Given the description of an element on the screen output the (x, y) to click on. 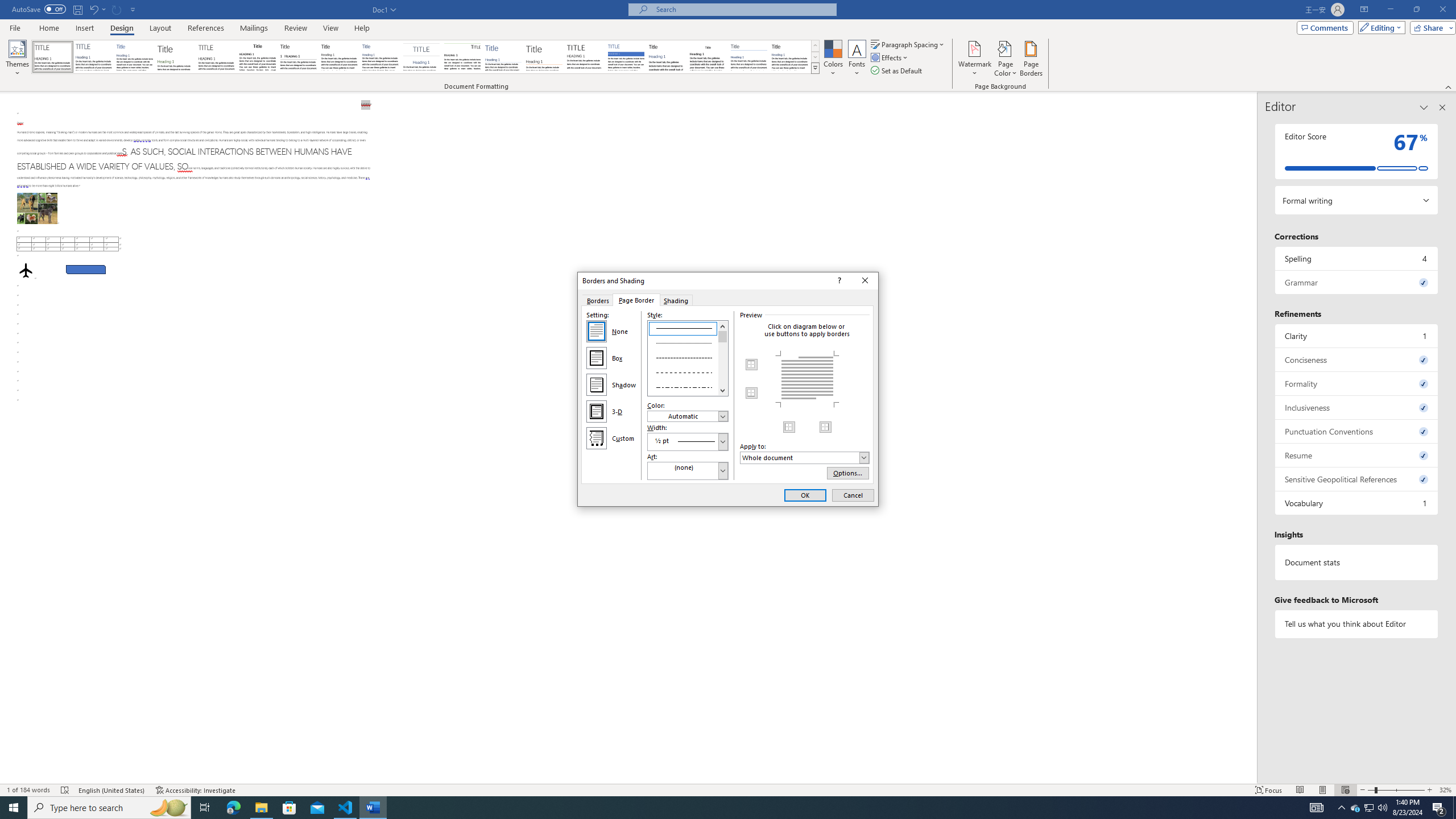
User Promoted Notification Area (1368, 807)
